Given the description of an element on the screen output the (x, y) to click on. 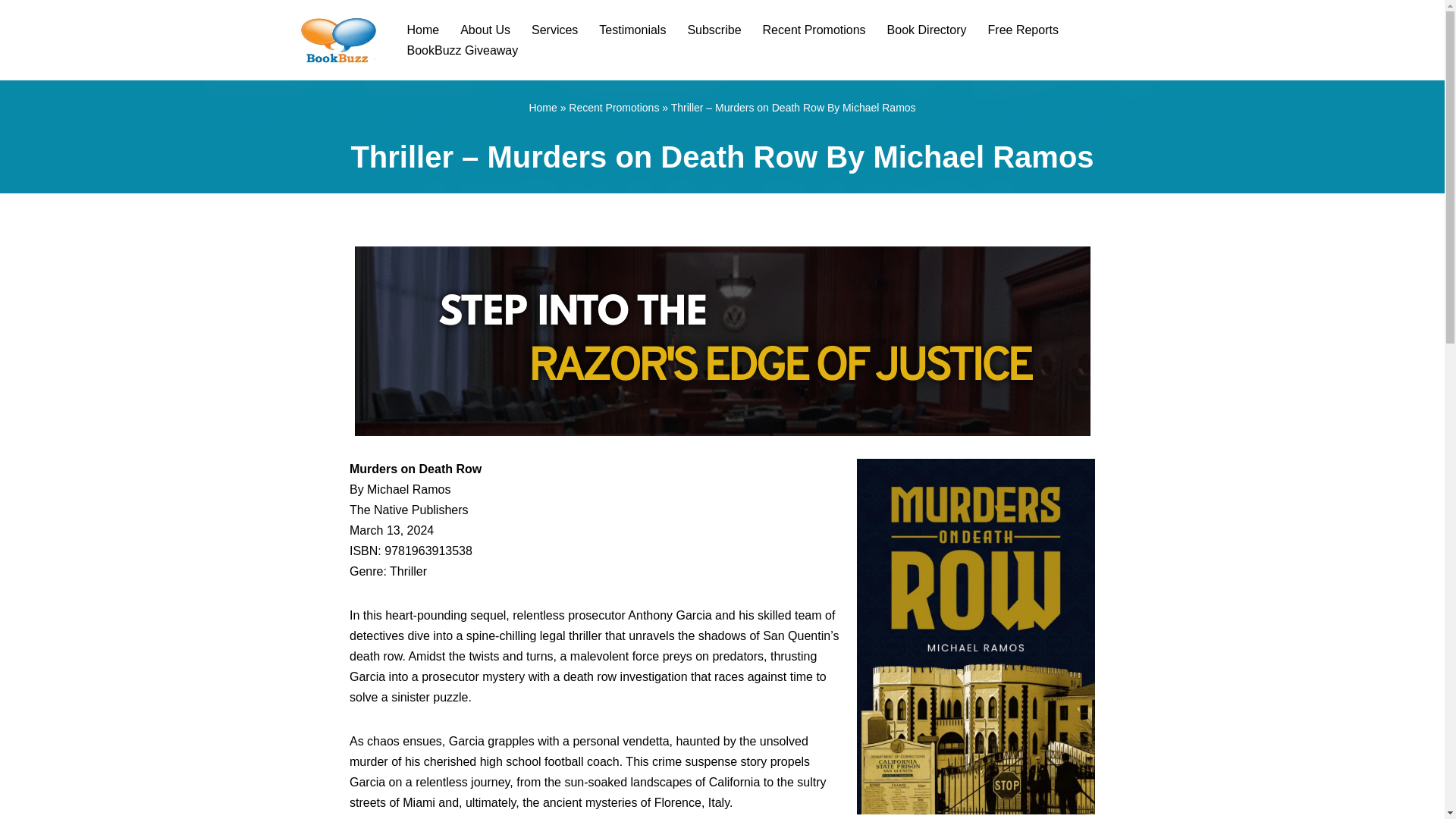
Recent Promotions (614, 107)
Home (542, 107)
Testimonials (631, 29)
Recent Promotions (814, 29)
Home (422, 29)
BookBuzz Giveaway (462, 50)
Subscribe (714, 29)
Free Reports (1023, 29)
About Us (485, 29)
Skip to content (11, 31)
